Given the description of an element on the screen output the (x, y) to click on. 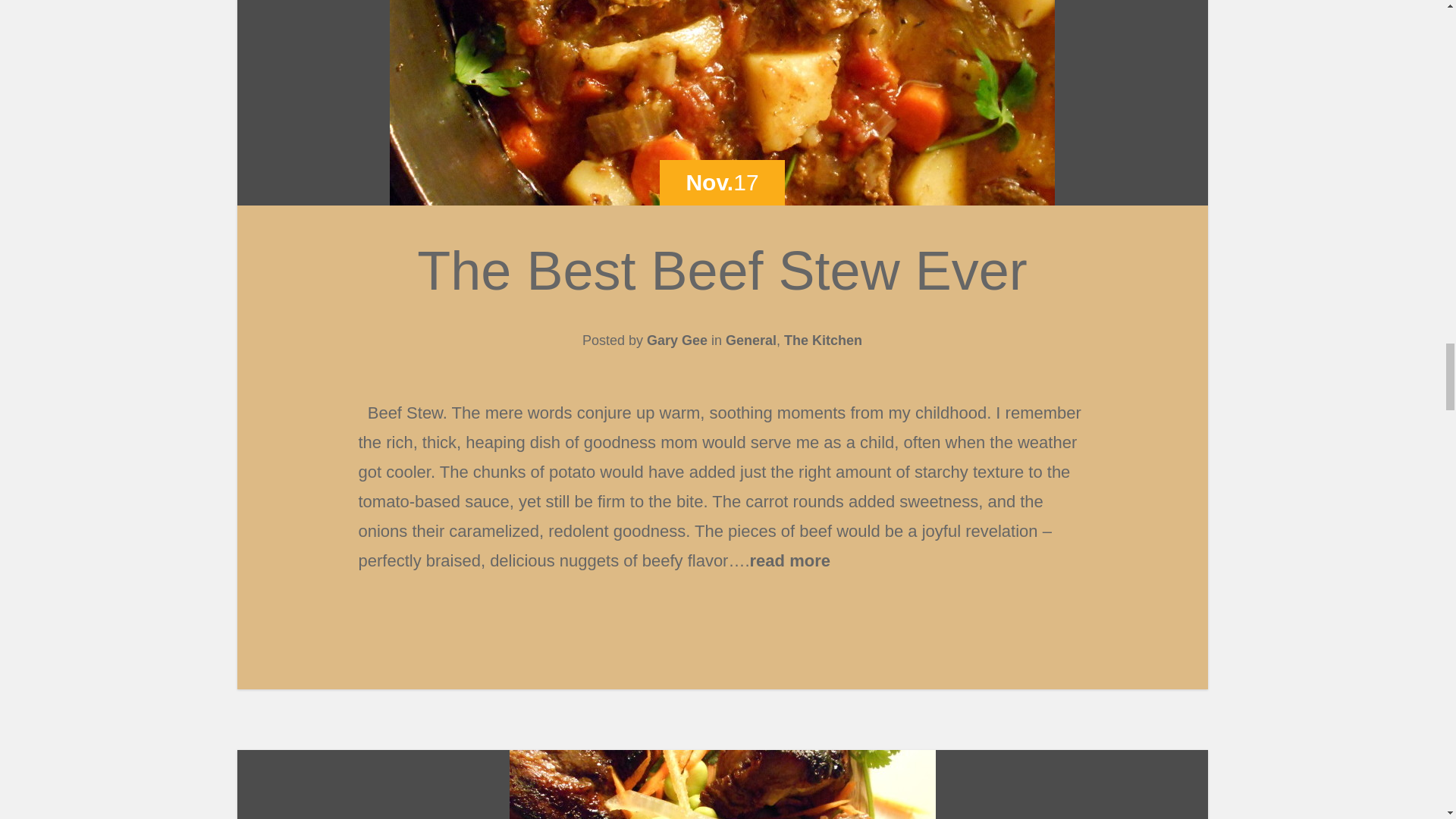
Posts by Gary Gee (676, 340)
